Given the description of an element on the screen output the (x, y) to click on. 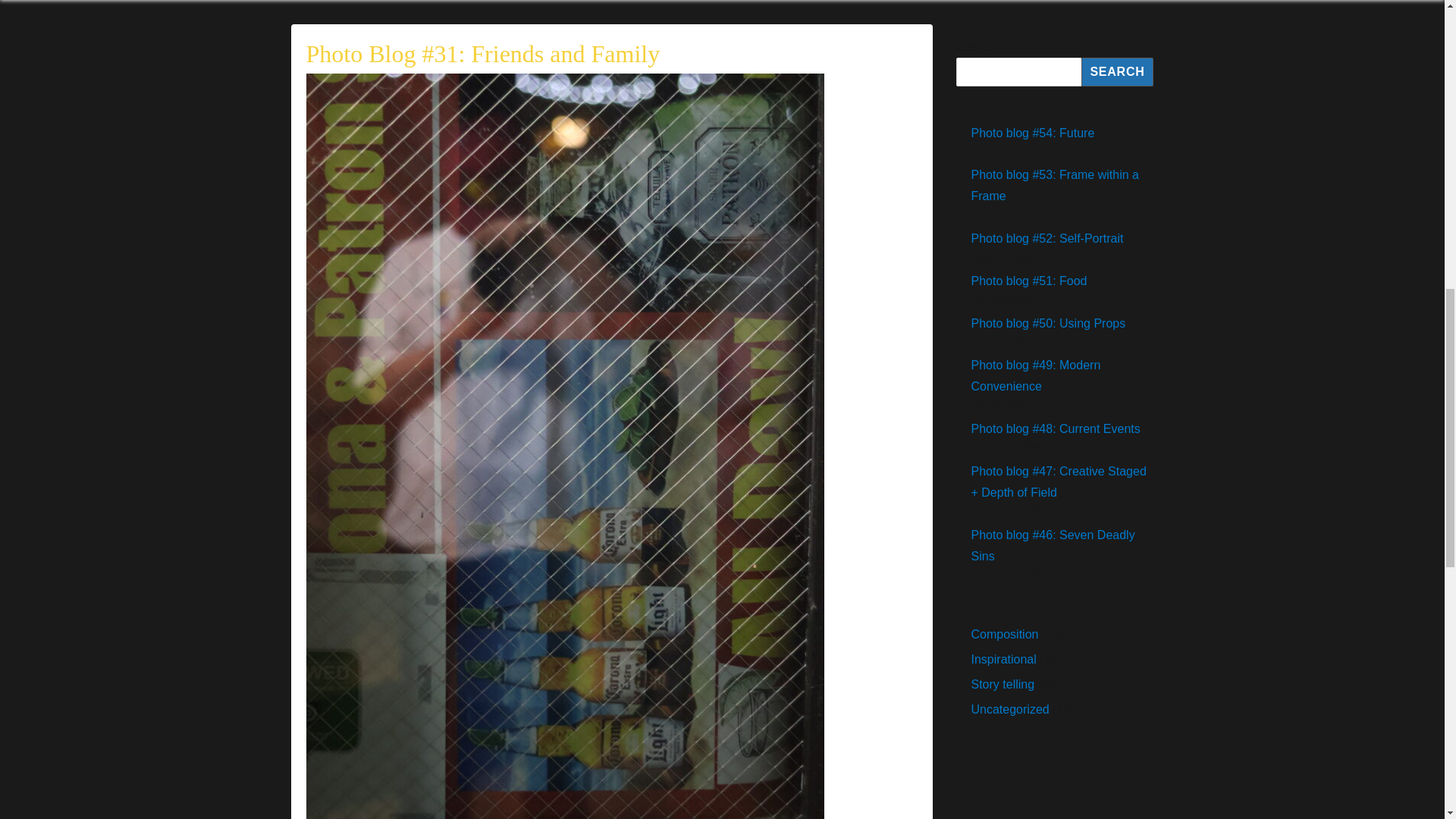
Inspirational (1003, 658)
Composition (1004, 634)
Uncategorized (1009, 708)
Story telling (1002, 684)
SEARCH (1117, 71)
